Given the description of an element on the screen output the (x, y) to click on. 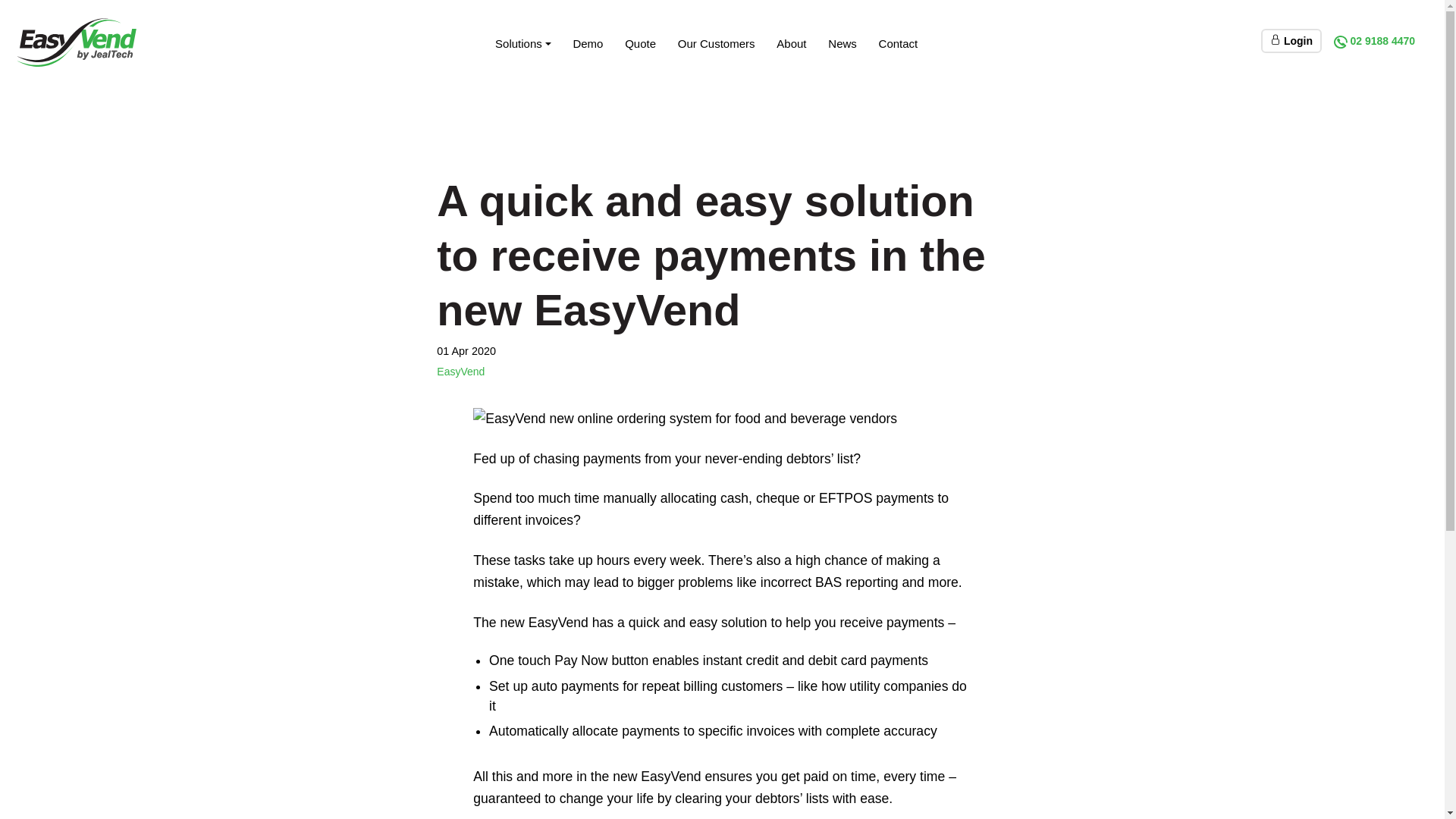
Login Element type: text (1291, 40)
About Element type: text (791, 43)
EasyVend Element type: text (460, 371)
02 9188 4470 Element type: text (1374, 40)
Contact Element type: text (897, 43)
News Element type: text (842, 43)
Quote Element type: text (640, 43)
Our Customers Element type: text (715, 43)
EasyVend - Food and beverage software Element type: hover (76, 42)
Demo Element type: text (587, 43)
Solutions Element type: text (522, 43)
